Given the description of an element on the screen output the (x, y) to click on. 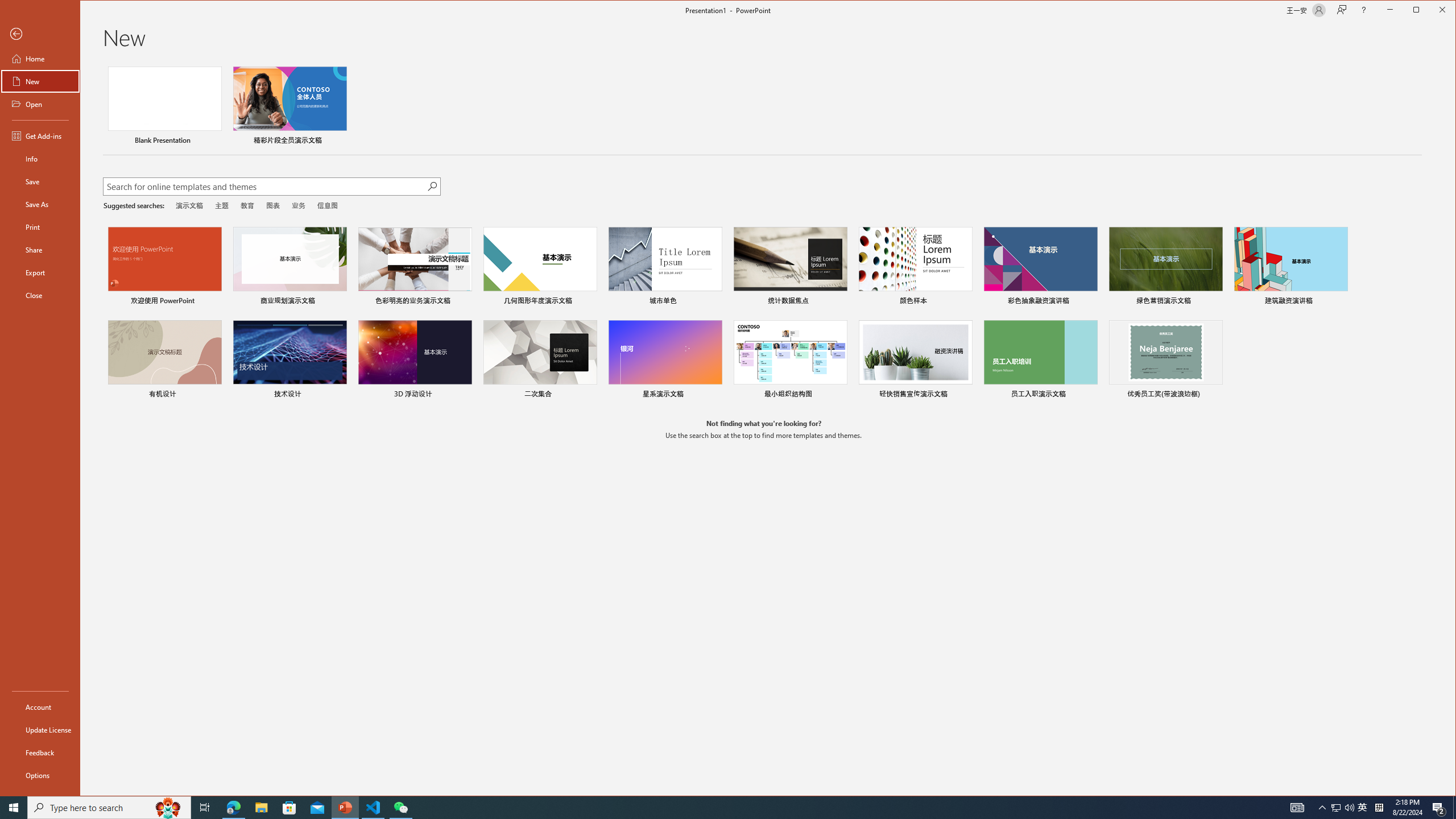
Update License (40, 729)
Save As (40, 203)
New (40, 80)
Start searching (431, 185)
Get Add-ins (40, 135)
Print (40, 226)
Pin to list (1215, 395)
